Given the description of an element on the screen output the (x, y) to click on. 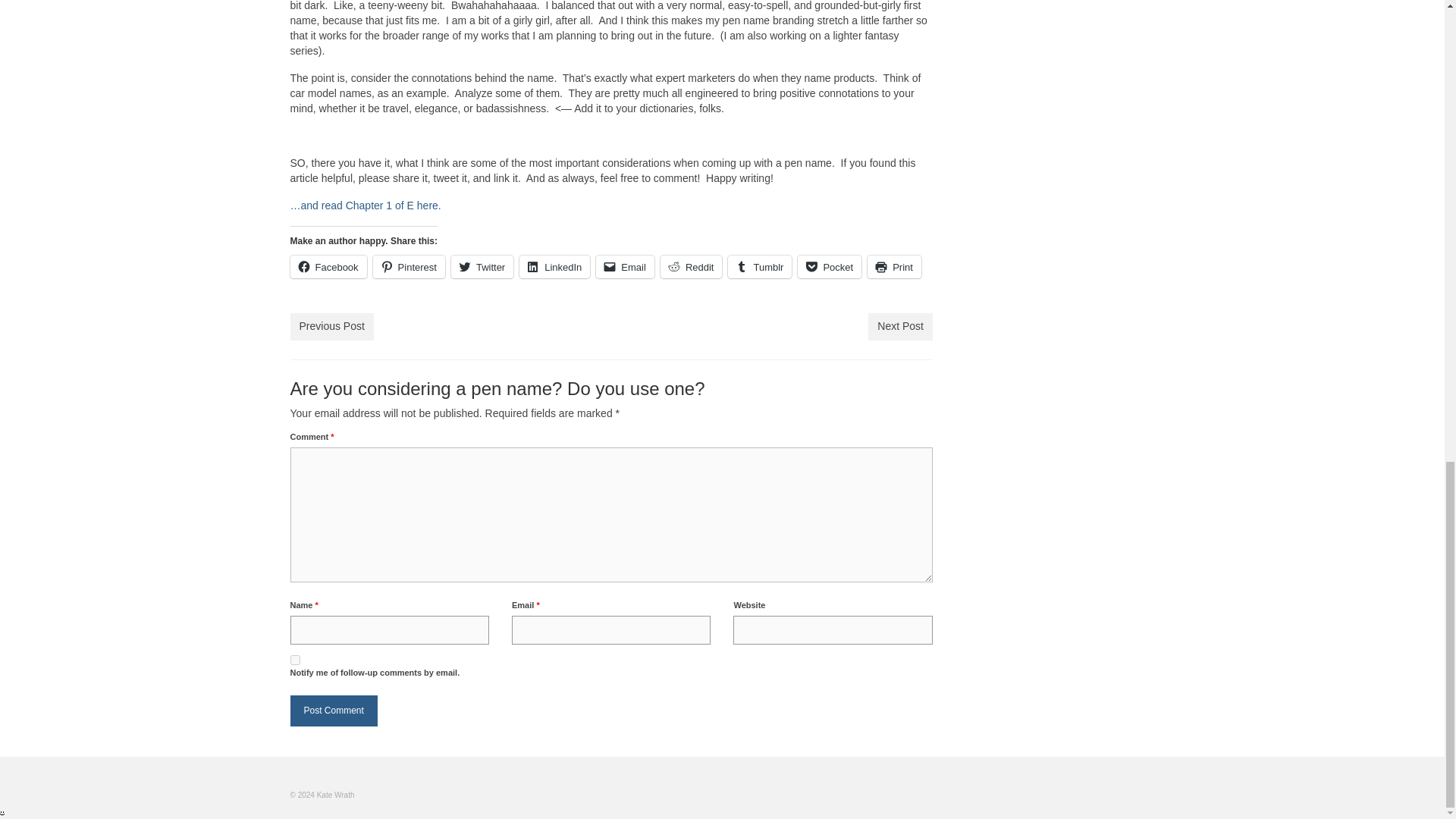
Click to print (894, 266)
Tumblr (760, 266)
Facebook (327, 266)
Click to share on Twitter (482, 266)
Previous Post (330, 326)
Click to email a link to a friend (624, 266)
Click to share on Pocket (829, 266)
subscribe (294, 660)
Pocket (829, 266)
Click to share on Facebook (327, 266)
LinkedIn (554, 266)
Email (624, 266)
Twitter (482, 266)
Click to share on LinkedIn (554, 266)
Pinterest (408, 266)
